Given the description of an element on the screen output the (x, y) to click on. 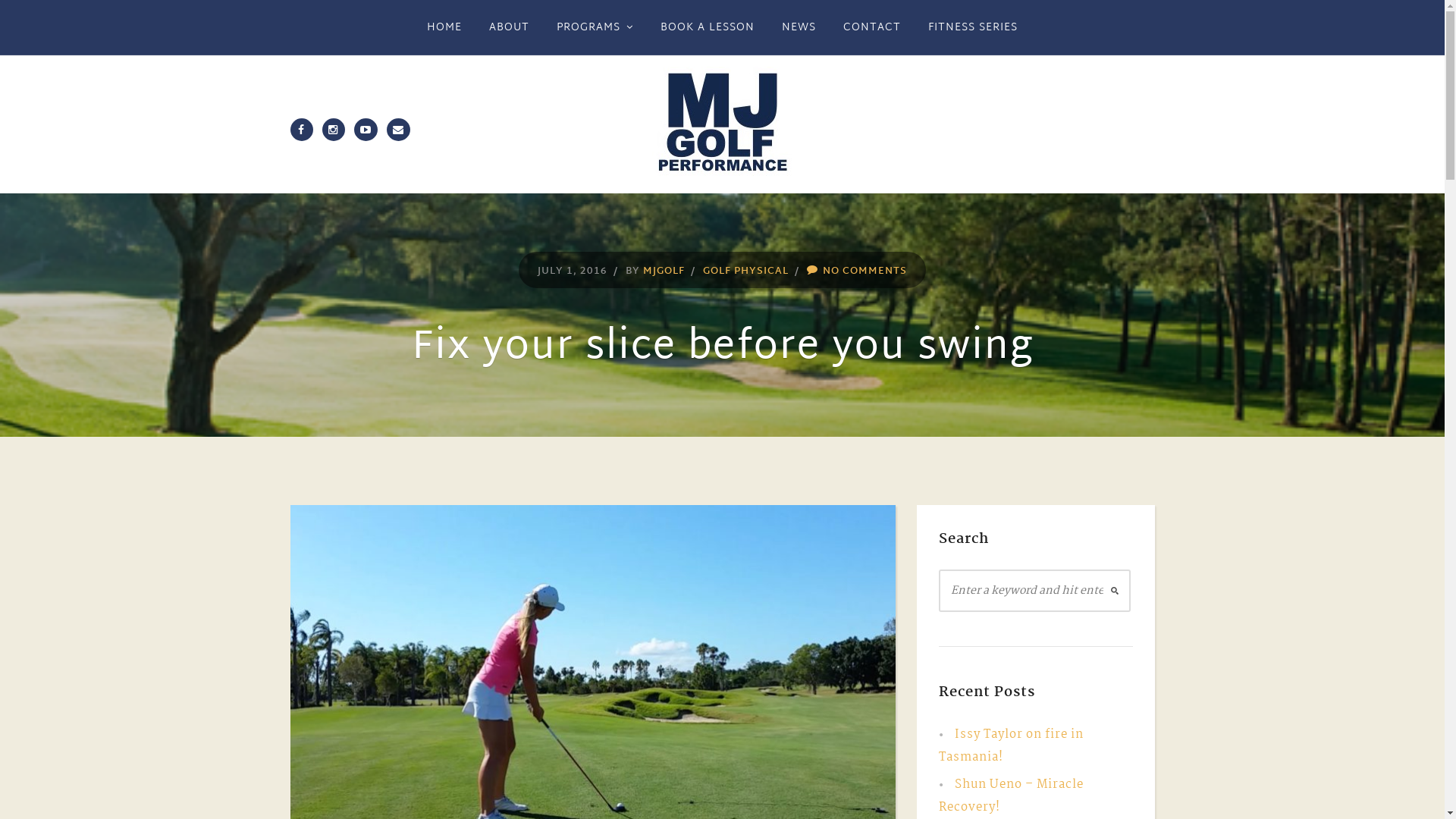
ABOUT Element type: text (509, 27)
NEWS Element type: text (798, 27)
MJGOLF Element type: text (663, 271)
GOLF PHYSICAL Element type: text (745, 271)
FITNESS SERIES Element type: text (972, 27)
NO COMMENTS Element type: text (864, 271)
BOOK A LESSON Element type: text (707, 27)
Search Element type: text (25, 11)
HOME Element type: text (443, 27)
Issy Taylor on fire in Tasmania! Element type: text (1010, 745)
PROGRAMS Element type: text (594, 27)
MJ GOLF Performance Element type: hover (722, 124)
CONTACT Element type: text (871, 27)
JULY 1, 2016 Element type: text (572, 271)
